Given the description of an element on the screen output the (x, y) to click on. 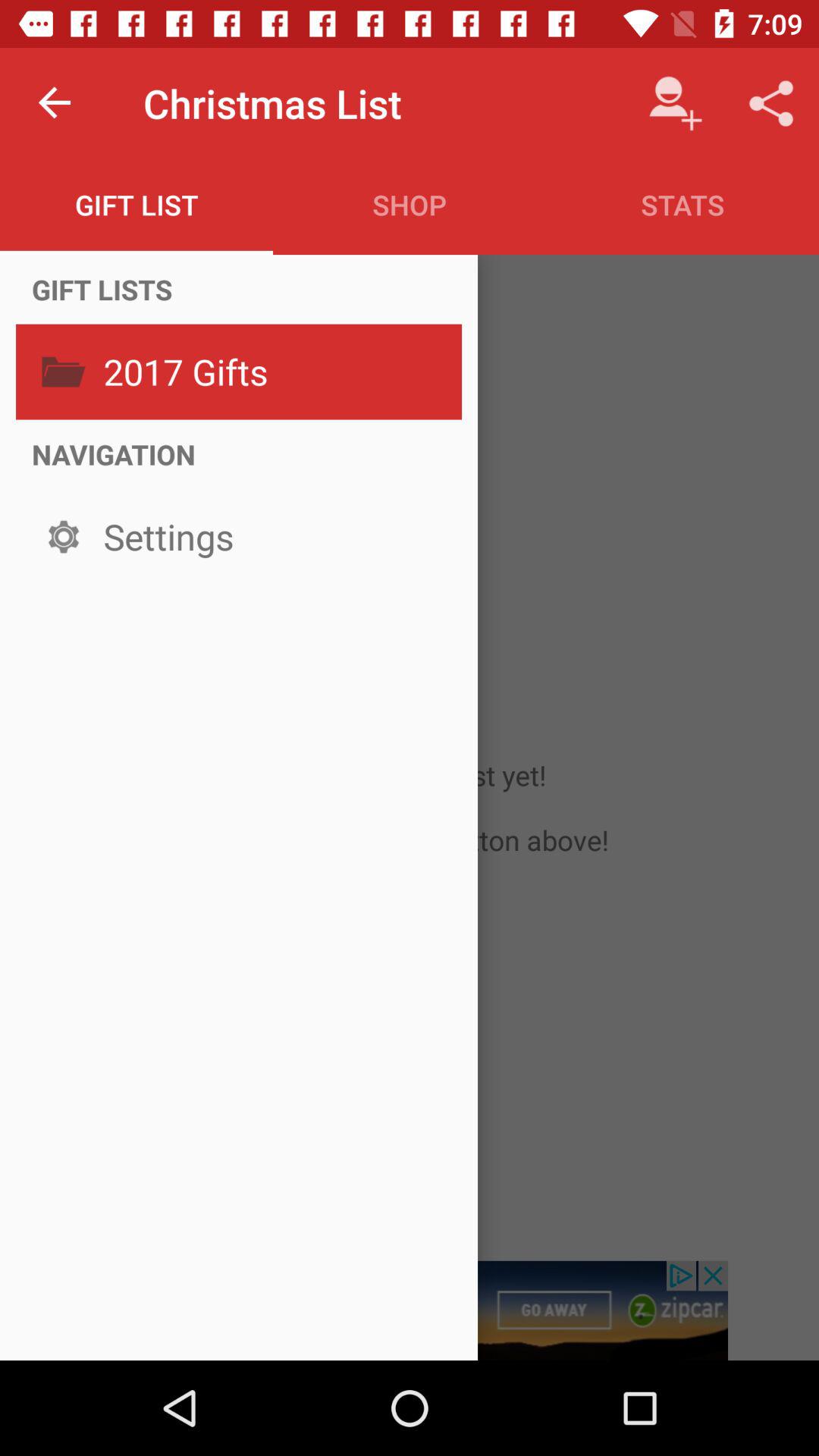
turn on the shop icon (409, 204)
